Given the description of an element on the screen output the (x, y) to click on. 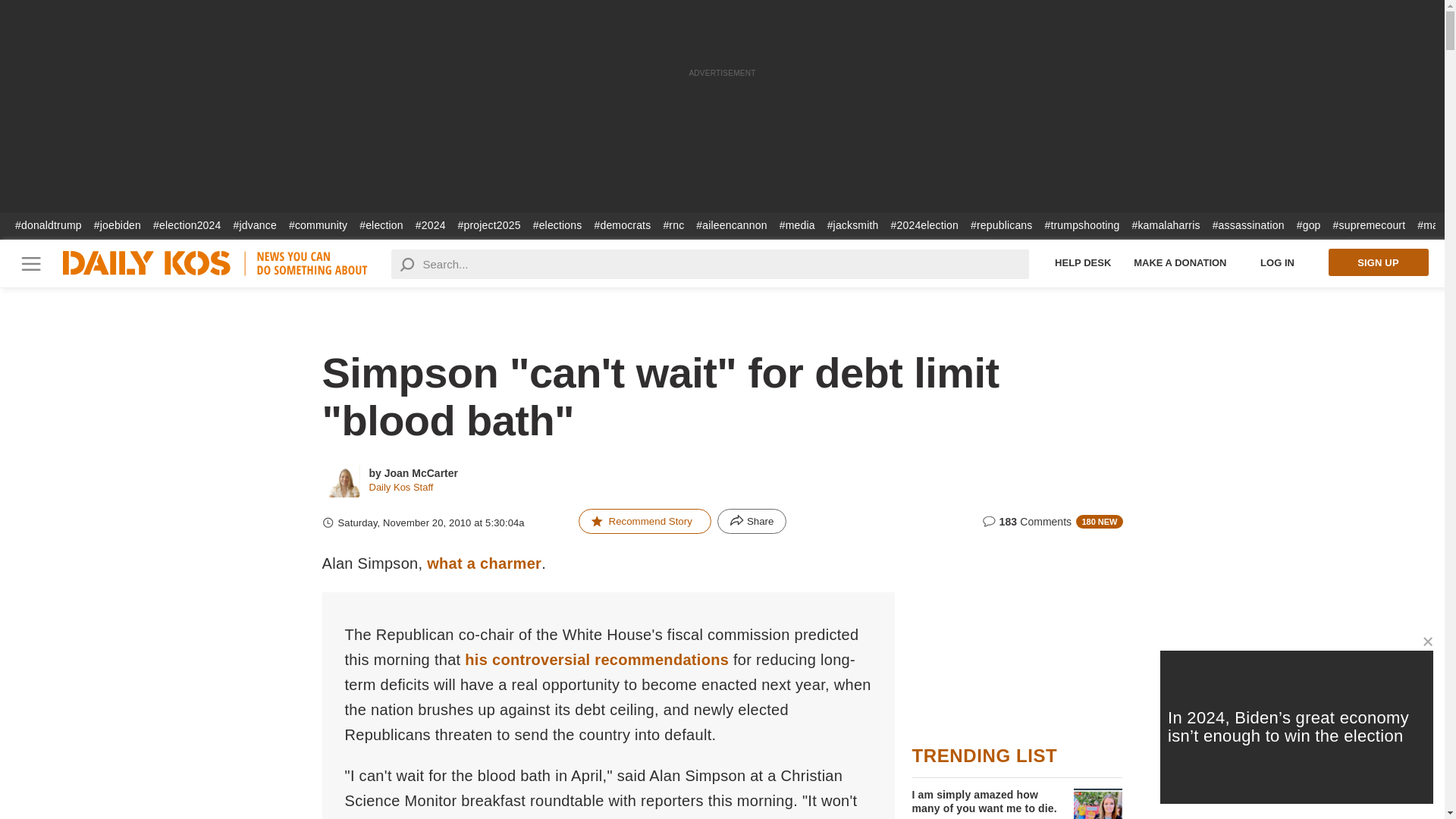
MAKE A DONATION (1179, 262)
Help Desk (1082, 262)
Make a Donation (1179, 262)
